Given the description of an element on the screen output the (x, y) to click on. 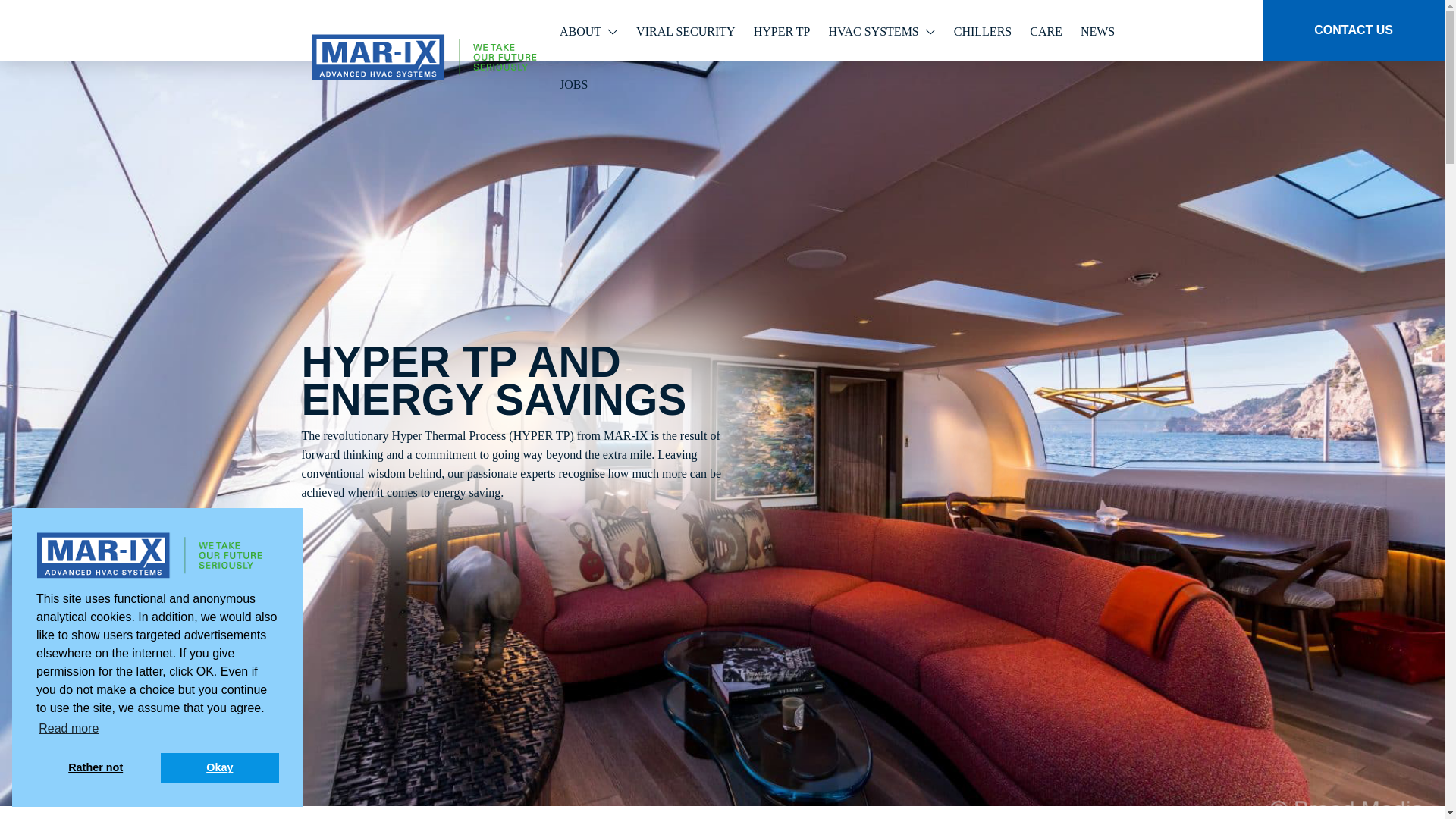
ABOUT (588, 31)
NEWS (1097, 31)
HVAC SYSTEMS (881, 31)
HYPER TP (782, 31)
CHILLERS (982, 31)
Okay (219, 767)
Rather not (95, 767)
VIRAL SECURITY (685, 31)
Read more (68, 728)
CARE (1045, 31)
JOBS (573, 83)
